Given the description of an element on the screen output the (x, y) to click on. 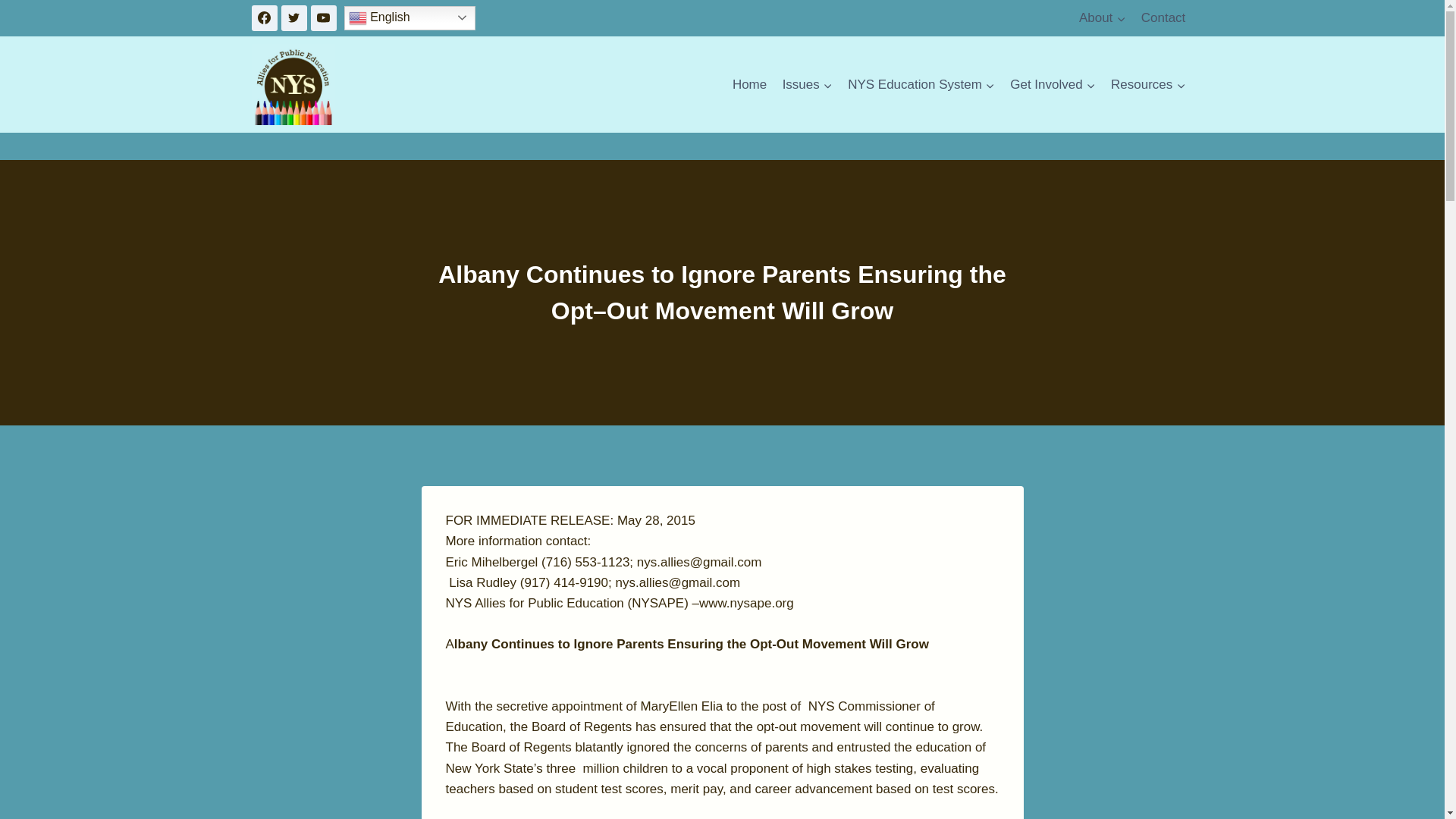
Home (749, 84)
NYS Education System (921, 84)
Get Involved (1053, 84)
English (409, 17)
About (1102, 18)
Issues (807, 84)
Contact (1163, 18)
